Given the description of an element on the screen output the (x, y) to click on. 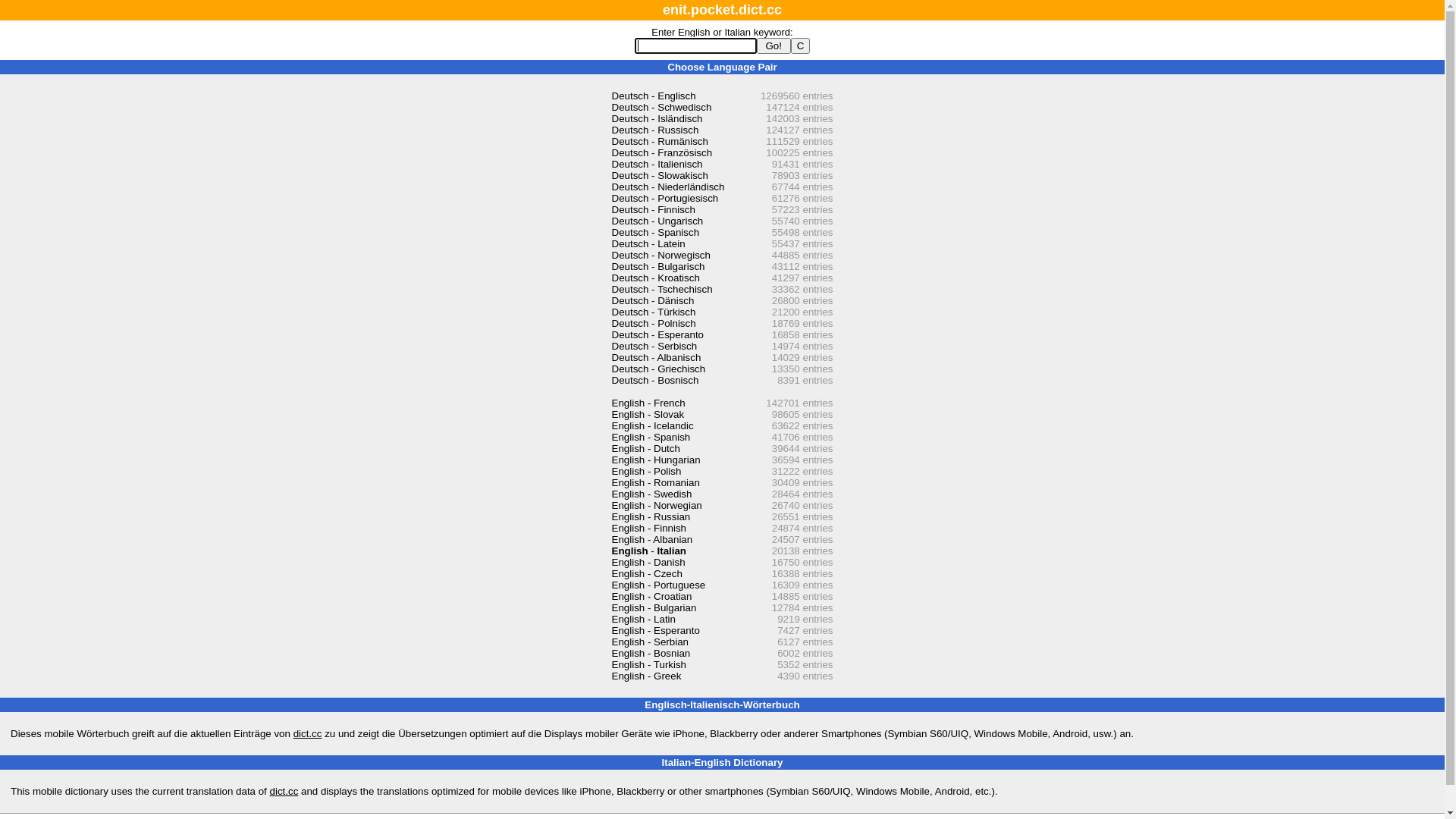
Deutsch - Norwegisch Element type: text (660, 254)
English - Portuguese Element type: text (658, 584)
Deutsch - Kroatisch Element type: text (655, 277)
Deutsch - Polnisch Element type: text (653, 323)
Deutsch - Esperanto Element type: text (657, 334)
English - Slovak Element type: text (647, 414)
Deutsch - Schwedisch Element type: text (661, 106)
English - Danish Element type: text (647, 561)
English - Italian Element type: text (648, 550)
dict.cc Element type: text (307, 733)
Deutsch - Finnisch Element type: text (652, 209)
Deutsch - Griechisch Element type: text (658, 368)
English - Norwegian Element type: text (656, 505)
Deutsch - Bulgarisch Element type: text (657, 266)
Deutsch - Latein Element type: text (647, 243)
English - Swedish Element type: text (651, 493)
Deutsch - Italienisch Element type: text (656, 163)
English - Finnish Element type: text (648, 527)
English - French Element type: text (647, 402)
English - Romanian Element type: text (655, 482)
 Go!  Element type: text (773, 45)
English - Turkish Element type: text (648, 664)
English - Hungarian Element type: text (655, 459)
English - Latin Element type: text (642, 618)
Deutsch - Slowakisch Element type: text (659, 175)
English - Croatian Element type: text (651, 596)
Deutsch - Ungarisch Element type: text (656, 220)
Deutsch - Englisch Element type: text (653, 95)
Deutsch - Serbisch Element type: text (653, 345)
dict.cc Element type: text (283, 791)
English - Serbian Element type: text (649, 641)
English - Bulgarian Element type: text (653, 607)
English - Polish Element type: text (645, 470)
English - Russian Element type: text (650, 516)
Deutsch - Albanisch Element type: text (655, 357)
C Element type: text (800, 45)
English - Esperanto Element type: text (655, 630)
English - Albanian Element type: text (651, 539)
Deutsch - Portugiesisch Element type: text (664, 197)
Deutsch - Russisch Element type: text (654, 129)
English - Bosnian Element type: text (650, 652)
English - Icelandic Element type: text (652, 425)
English - Spanish Element type: text (650, 436)
enit.pocket.dict.cc Element type: text (721, 9)
English - Czech Element type: text (646, 573)
English - Greek Element type: text (645, 675)
Deutsch - Spanisch Element type: text (655, 232)
Deutsch - Bosnisch Element type: text (654, 379)
Deutsch - Tschechisch Element type: text (661, 288)
English - Dutch Element type: text (645, 448)
